Given the description of an element on the screen output the (x, y) to click on. 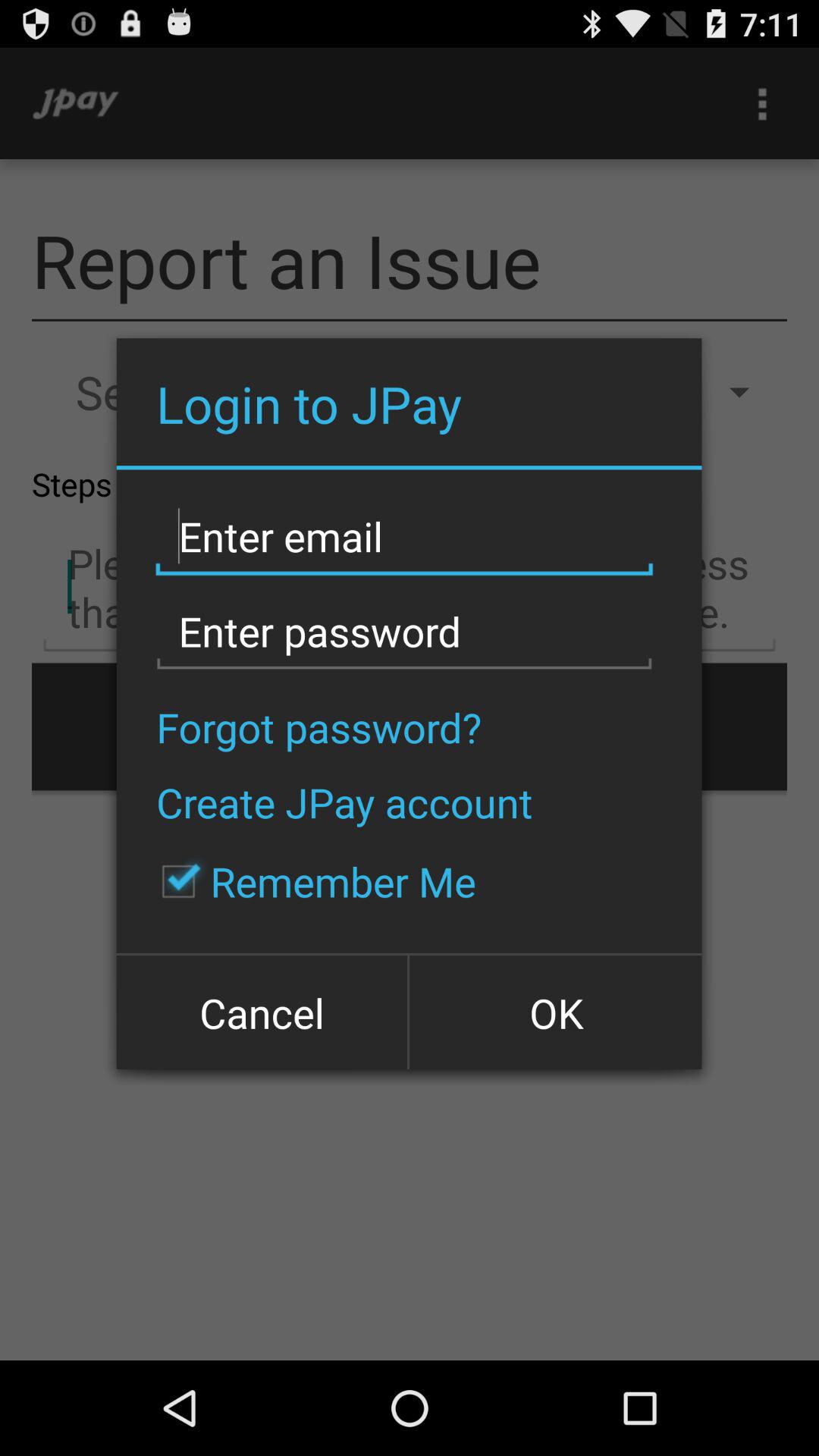
creat (404, 536)
